Given the description of an element on the screen output the (x, y) to click on. 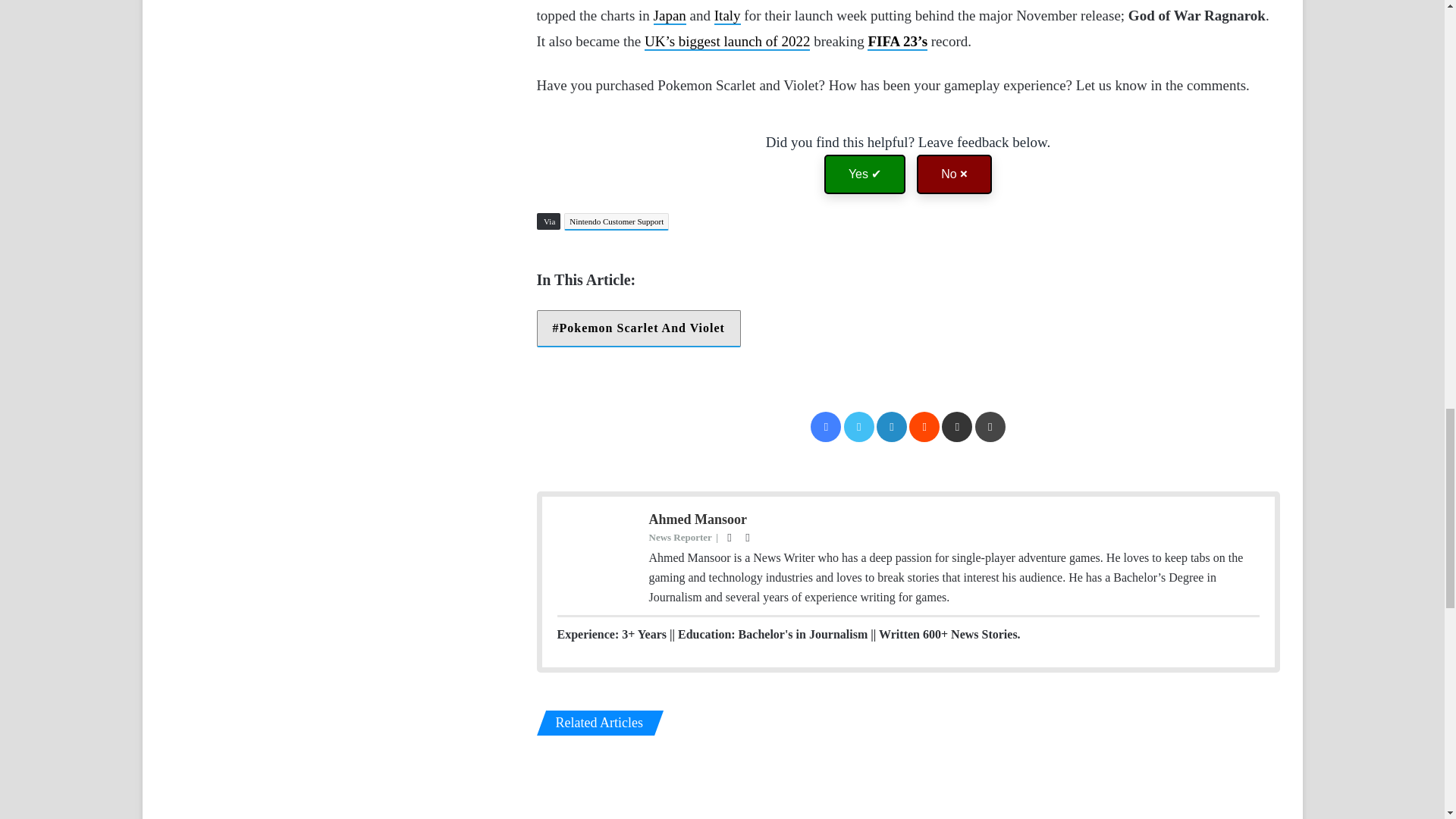
Print (990, 426)
Twitter (859, 426)
LinkedIn (891, 426)
Facebook (825, 426)
Reddit (923, 426)
Share via Email (957, 426)
